Given the description of an element on the screen output the (x, y) to click on. 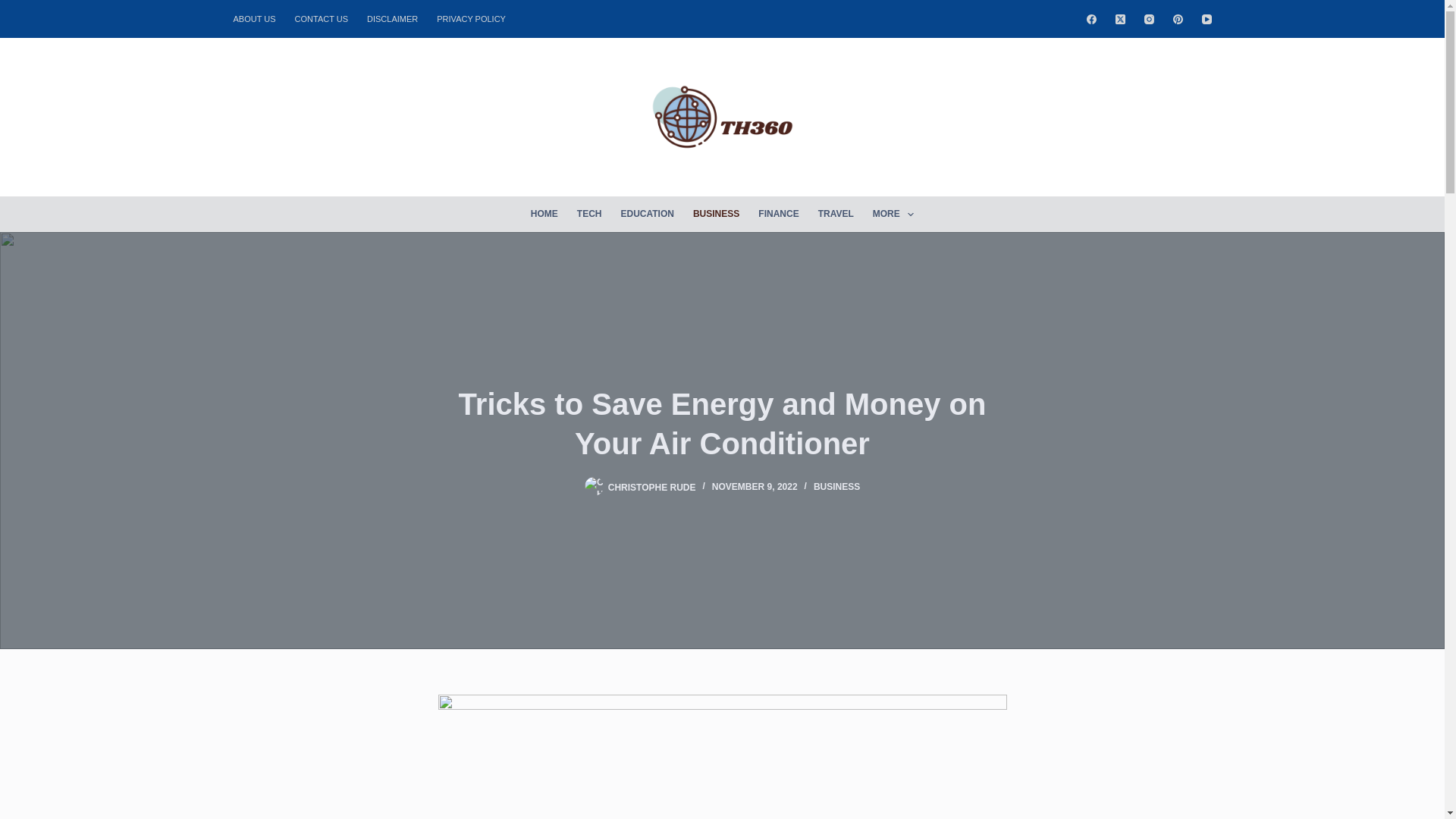
CONTACT US (321, 18)
DISCLAIMER (393, 18)
BUSINESS (715, 213)
Tricks to Save Energy and Money on Your Air Conditioner (722, 423)
HOME (544, 213)
TRAVEL (835, 213)
PRIVACY POLICY (471, 18)
TECH (589, 213)
MORE (893, 213)
Posts by Christophe Rude (651, 486)
EDUCATION (646, 213)
FINANCE (778, 213)
ABOUT US (258, 18)
Skip to content (15, 7)
